Given the description of an element on the screen output the (x, y) to click on. 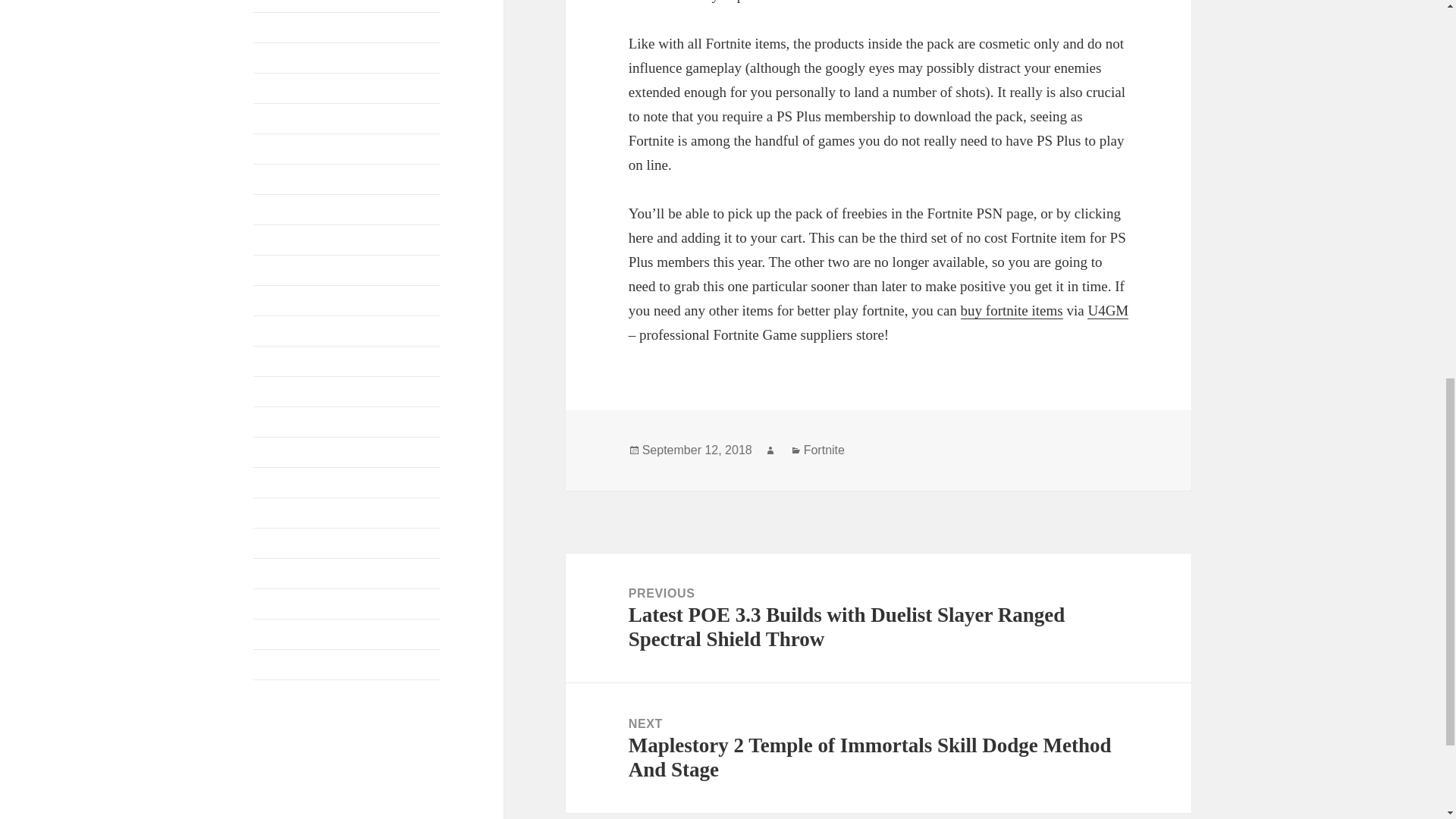
College Football 25 (301, 57)
NBA 2K (274, 451)
Destiny 2 (276, 148)
Madden NFL (285, 330)
Wildstar (273, 664)
MLB The Show (292, 391)
TERA (269, 573)
Dark and Darker (293, 88)
WOW Classic (288, 694)
Phantasy Star Online 2: New Genesis (344, 543)
